Given the description of an element on the screen output the (x, y) to click on. 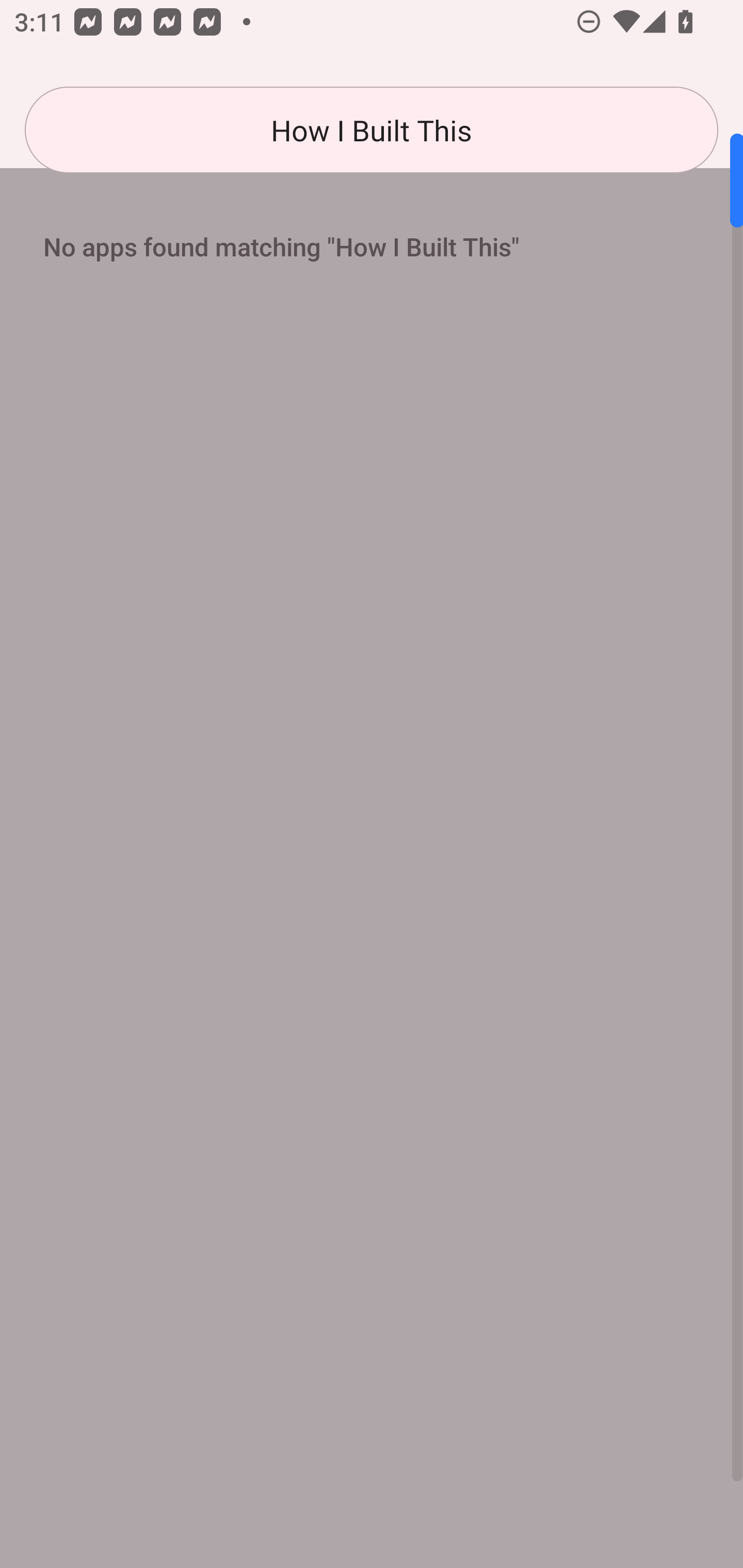
How I Built This (371, 130)
